Given the description of an element on the screen output the (x, y) to click on. 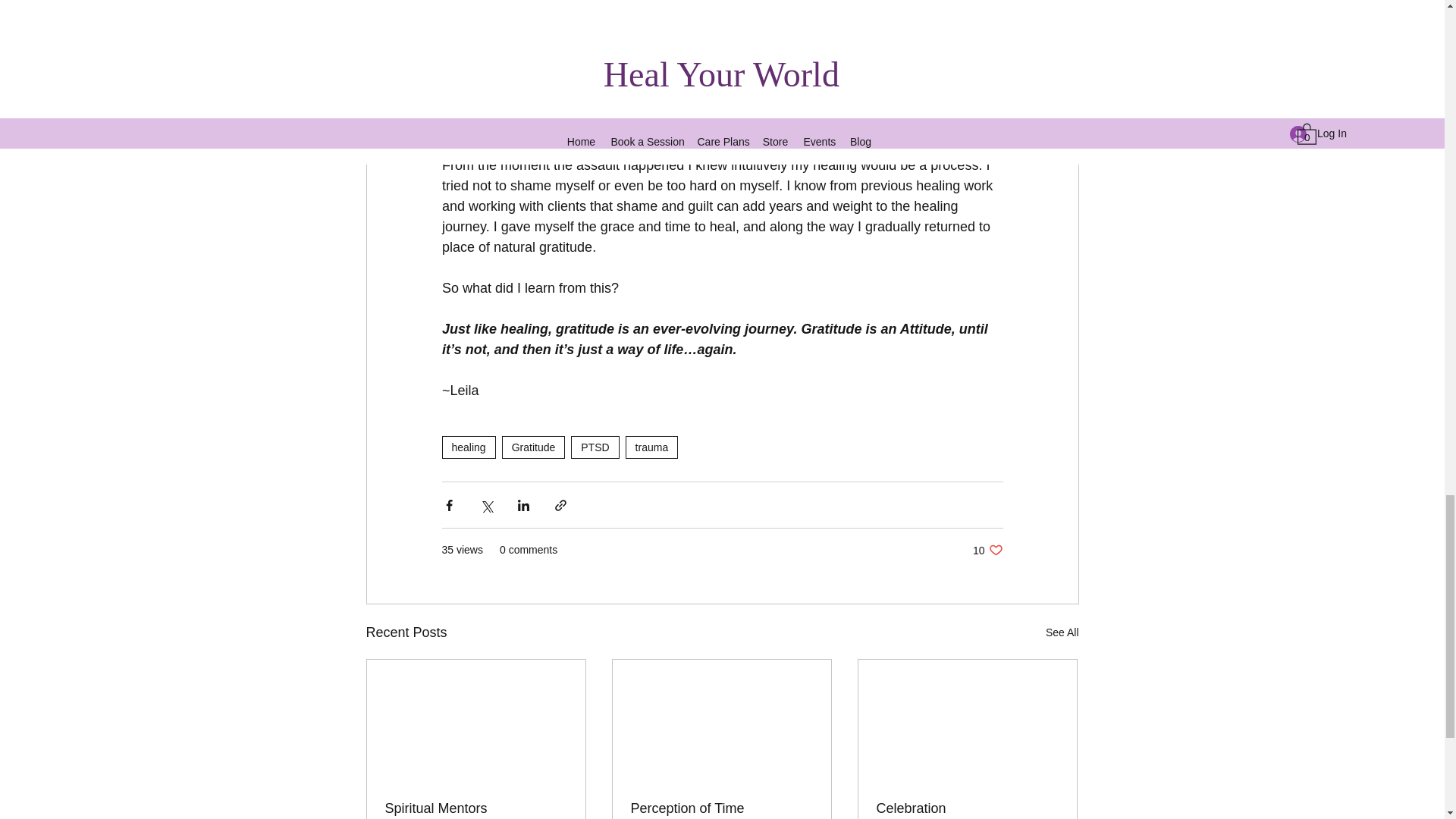
trauma (652, 446)
Spiritual Mentors (476, 808)
healing (468, 446)
PTSD (594, 446)
Perception of Time (721, 808)
Celebration (967, 808)
See All (1061, 632)
Gratitude (534, 446)
